Given the description of an element on the screen output the (x, y) to click on. 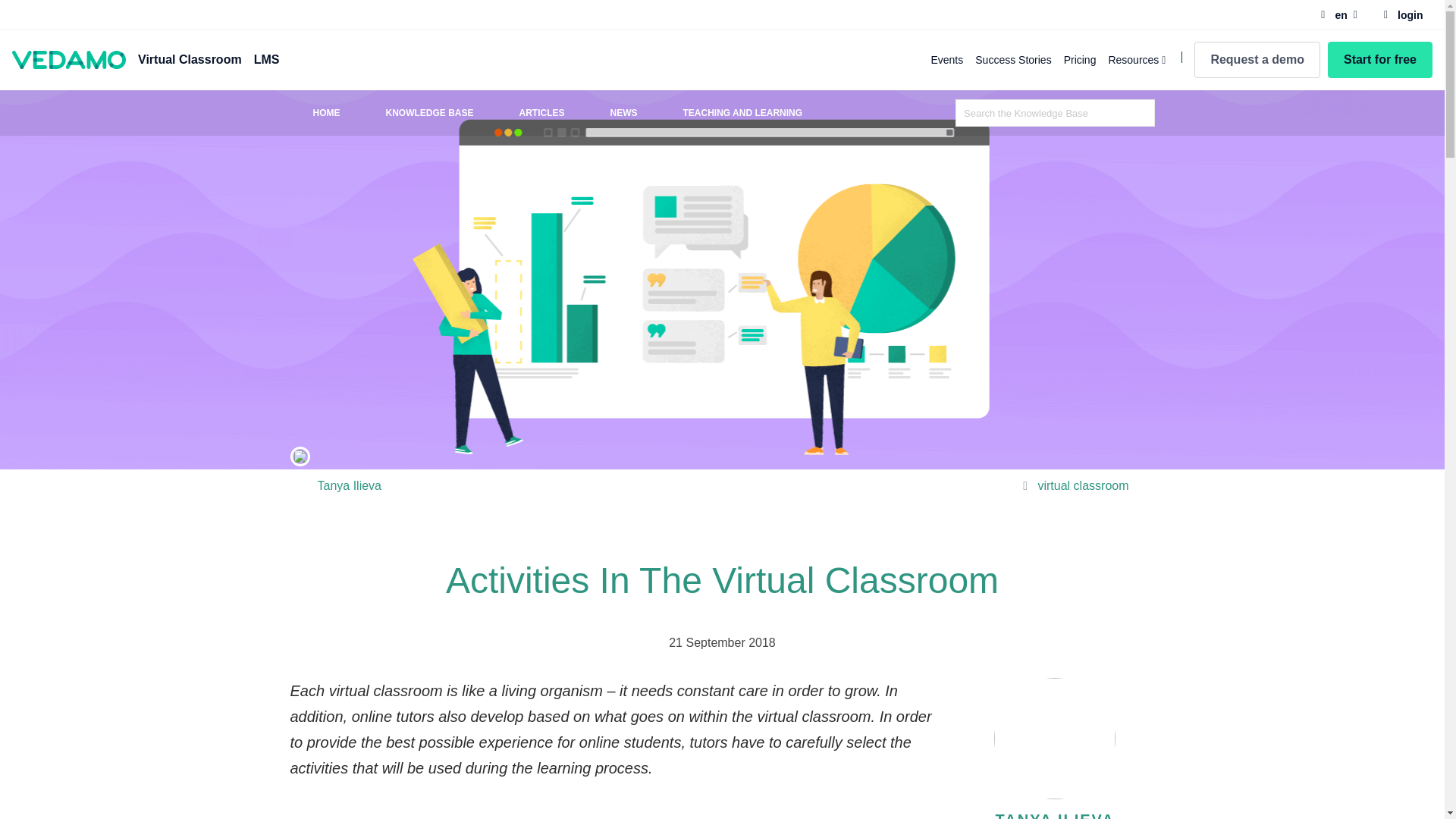
Request a demo (1256, 59)
Pricing (1080, 60)
Virtual Classroom (189, 59)
login (1403, 14)
LMS (266, 59)
Pricing (1080, 60)
Start for free (1379, 59)
Resources (1138, 60)
Success Stories (1013, 60)
Start for free (1379, 59)
